Given the description of an element on the screen output the (x, y) to click on. 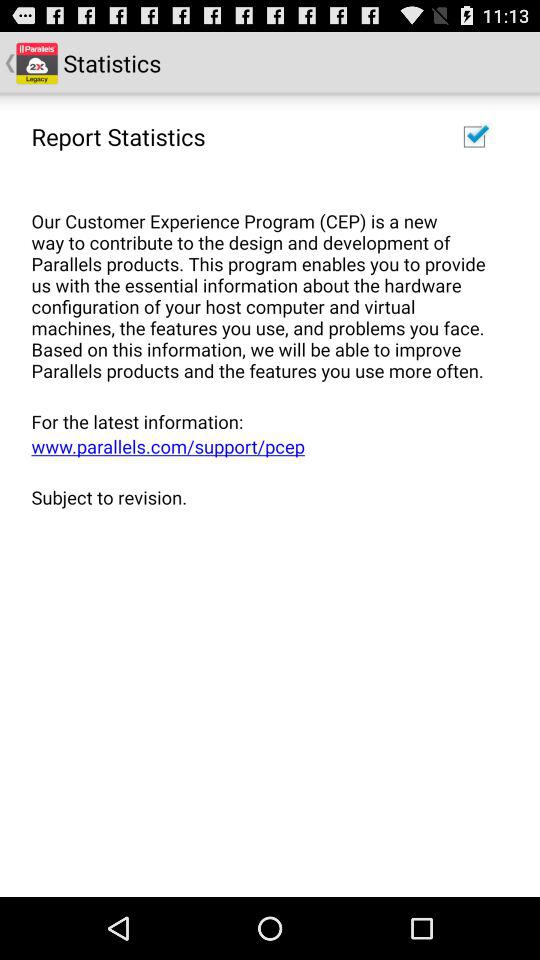
open report statistics app (118, 136)
